Given the description of an element on the screen output the (x, y) to click on. 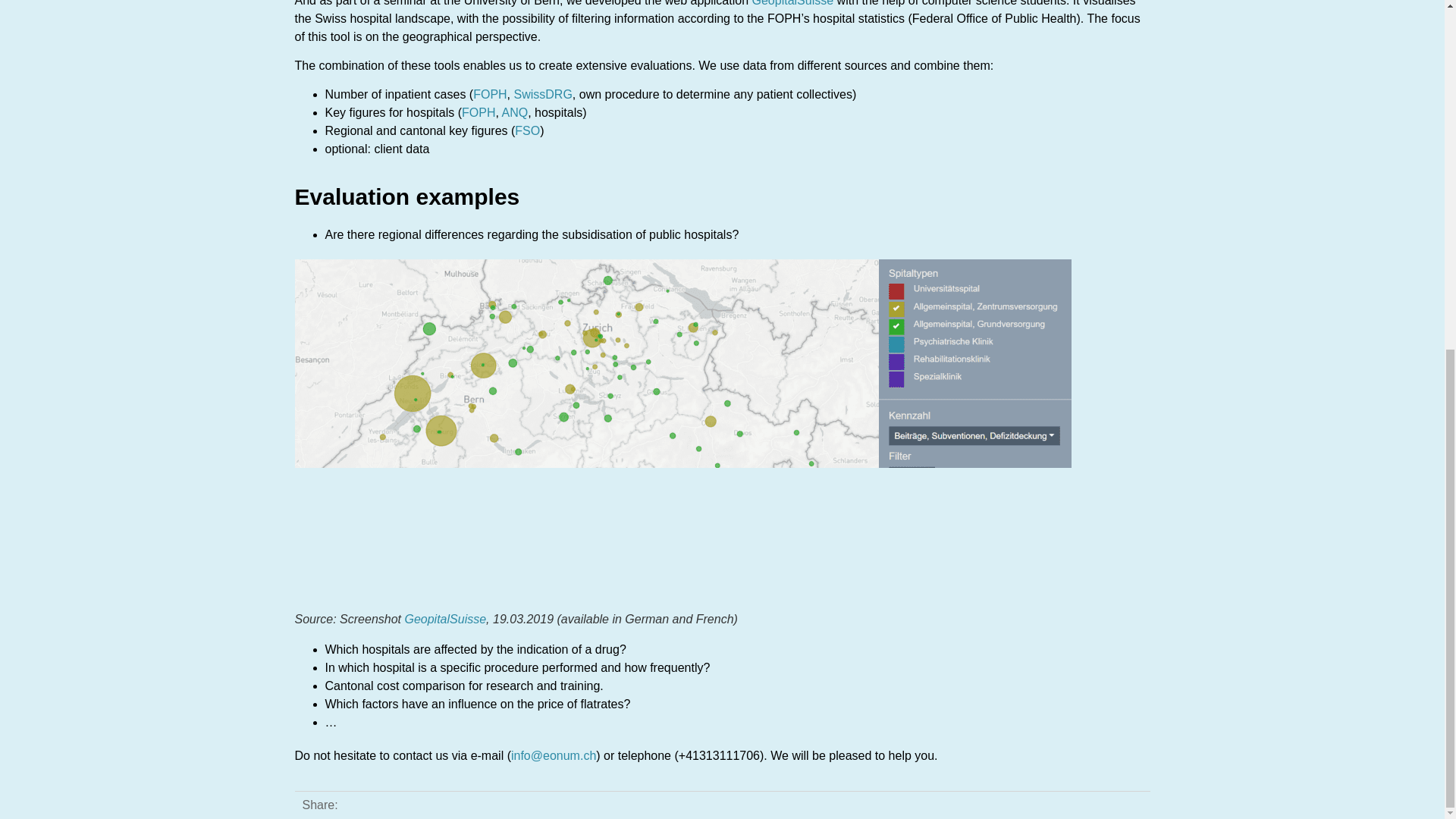
FOPH (489, 93)
GeopitalSuisse (793, 3)
SwissDRG (542, 93)
